Given the description of an element on the screen output the (x, y) to click on. 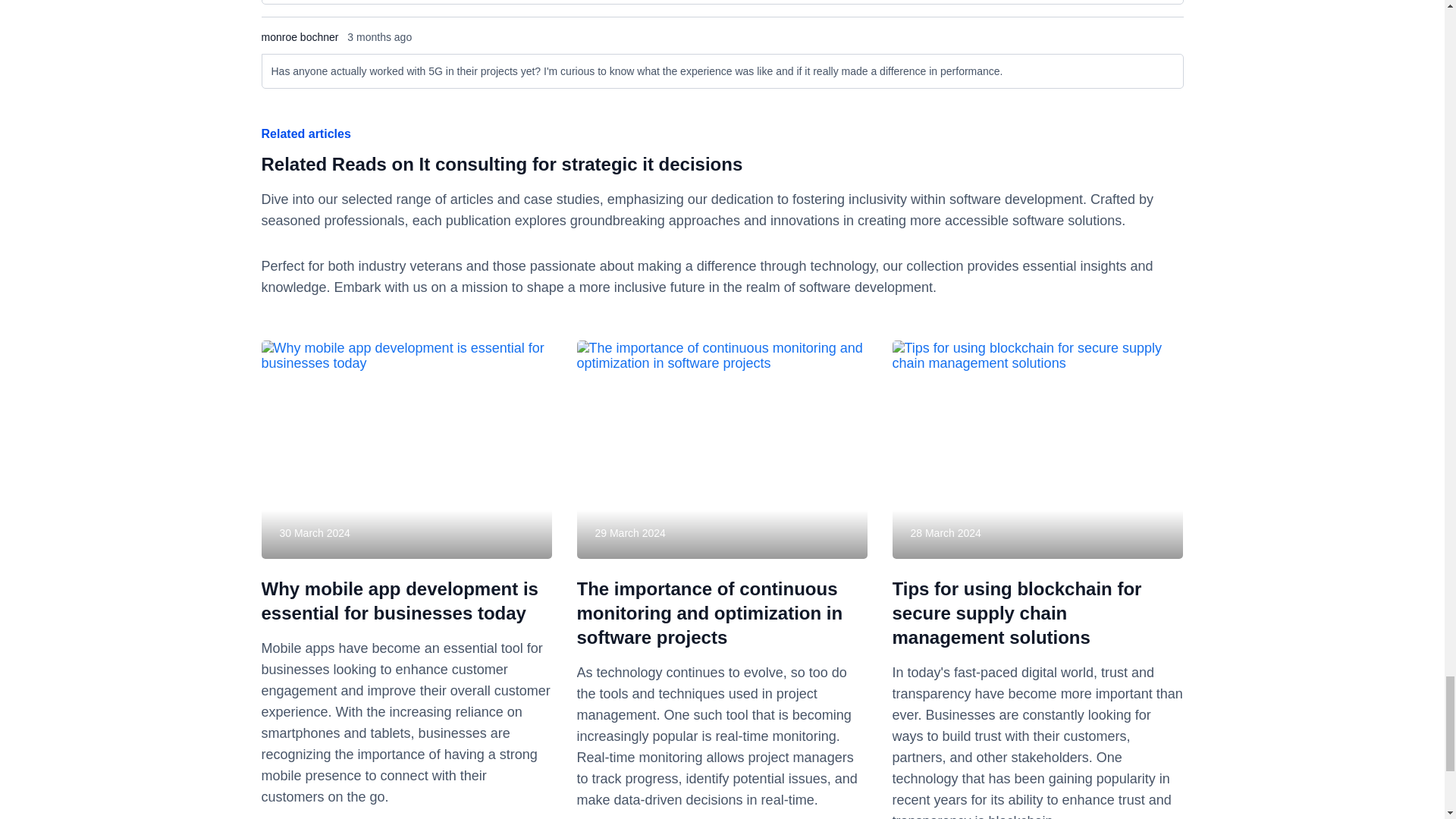
Why mobile app development is essential for businesses today (398, 600)
